Given the description of an element on the screen output the (x, y) to click on. 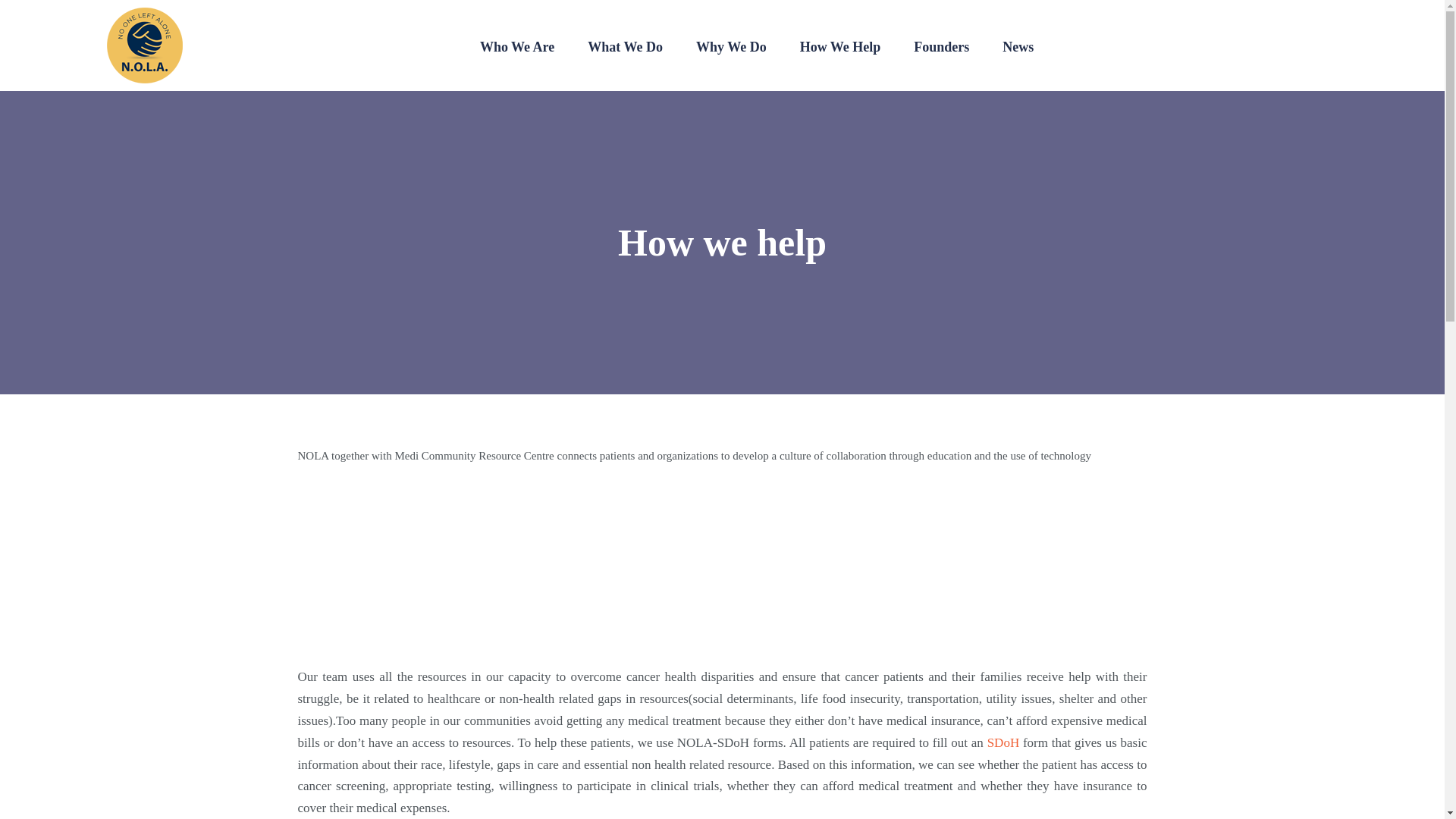
What We Do (624, 47)
Who We Are (516, 47)
How We Help (839, 47)
SDoH (1003, 742)
Why We Do (731, 47)
Founders (941, 47)
